Given the description of an element on the screen output the (x, y) to click on. 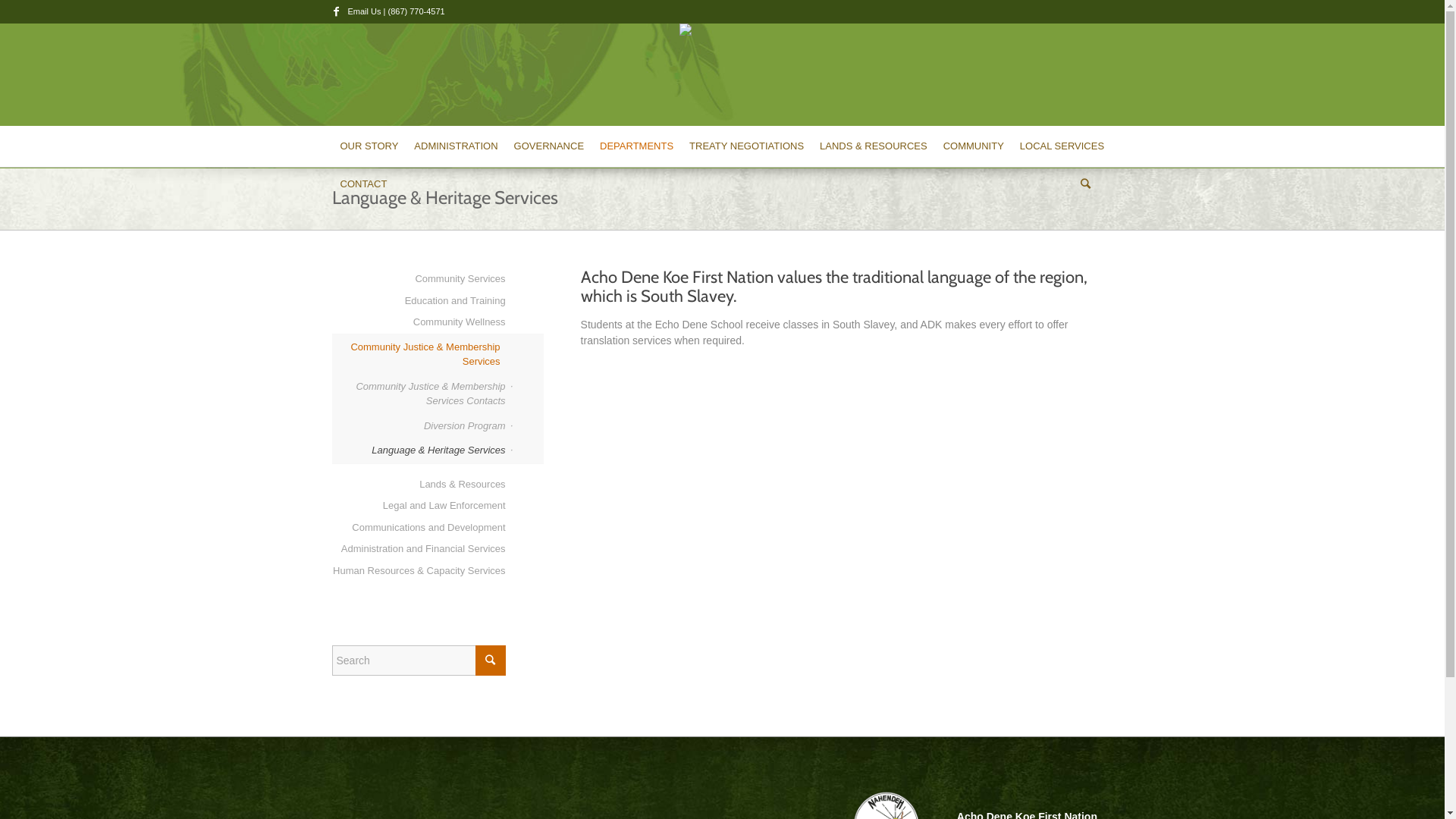
Human Resources & Capacity Services Element type: text (418, 571)
Language & Heritage Services Element type: text (445, 197)
Administration and Financial Services Element type: text (418, 549)
Community Services Element type: text (418, 279)
Education and Training Element type: text (418, 301)
Email Us Element type: text (363, 10)
LOCAL SERVICES Element type: text (1061, 146)
TREATY NEGOTIATIONS Element type: text (745, 146)
LANDS & RESOURCES Element type: text (873, 146)
Communications and Development Element type: text (418, 528)
Community Justice & Membership Services Contacts Element type: text (418, 394)
Lands & Resources Element type: text (418, 484)
Legal and Law Enforcement Element type: text (418, 506)
Community Wellness Element type: text (418, 322)
Diversion Program Element type: text (418, 426)
Community Justice & Membership Services Element type: text (418, 354)
ADMINISTRATION Element type: text (455, 146)
Facebook Element type: hover (335, 11)
OUR STORY Element type: text (369, 146)
COMMUNITY Element type: text (973, 146)
Language & Heritage Services Element type: text (418, 450)
CONTACT Element type: text (363, 184)
GOVERNANCE Element type: text (548, 146)
DEPARTMENTS Element type: text (635, 146)
